Given the description of an element on the screen output the (x, y) to click on. 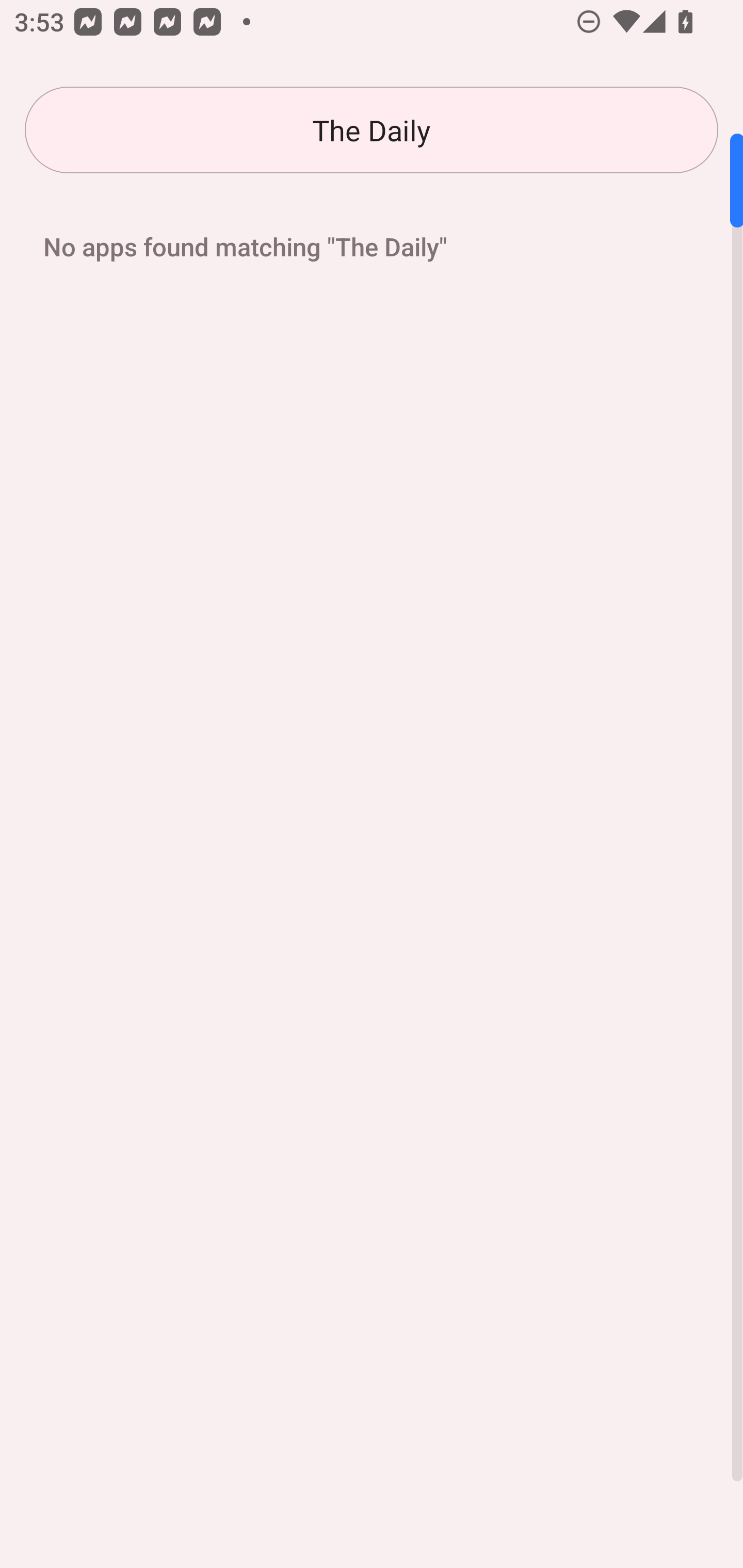
The Daily (371, 130)
